Given the description of an element on the screen output the (x, y) to click on. 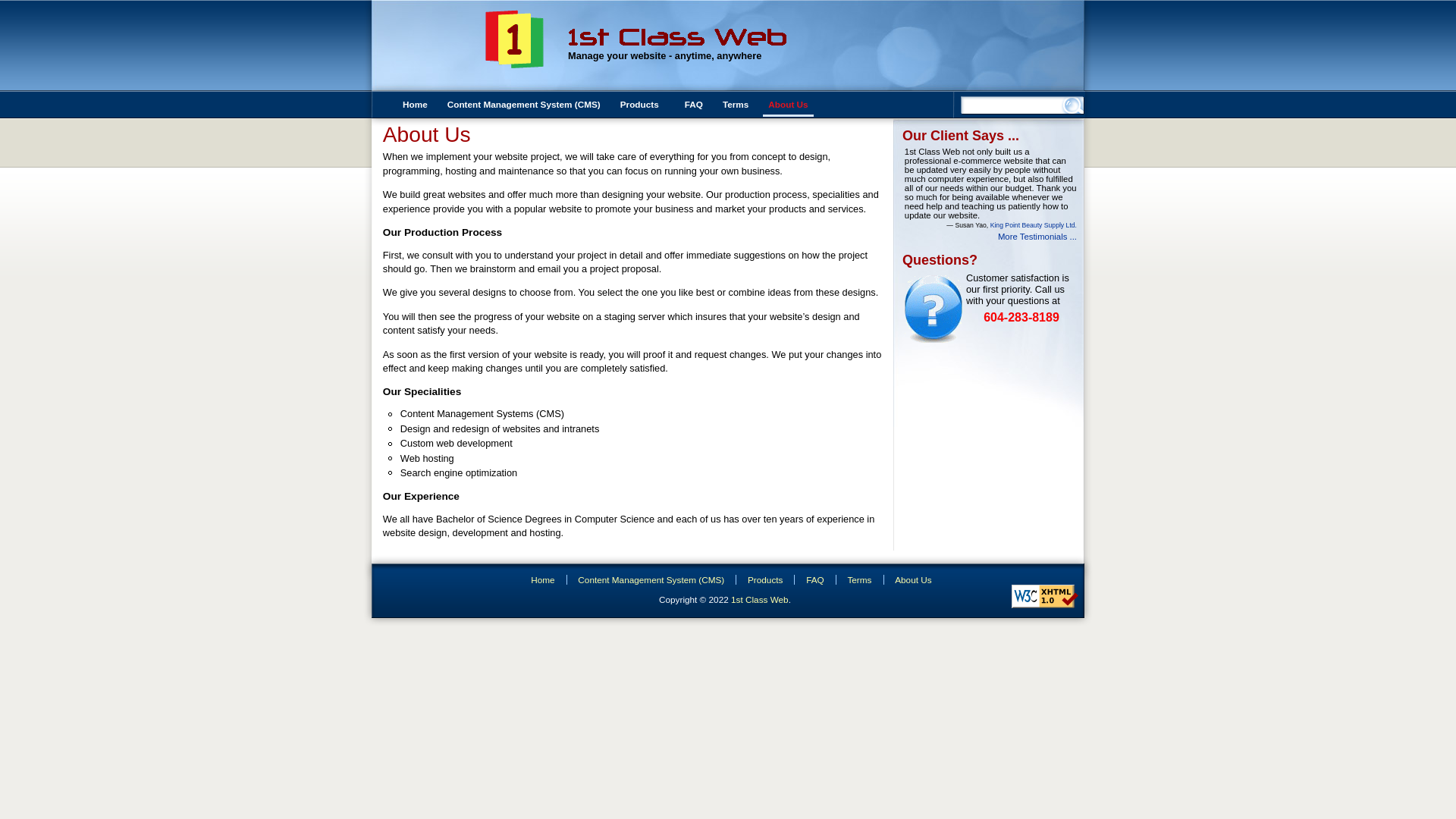
Terms Element type: text (856, 579)
Products Element type: text (761, 579)
Products Element type: text (642, 105)
Home Element type: text (539, 579)
King Point Beauty Supply Ltd. Element type: text (1033, 225)
Content Management System (CMS) Element type: text (647, 579)
Home Element type: text (415, 105)
Content Management System (CMS) Element type: text (523, 105)
Terms Element type: text (735, 105)
Search Element type: text (21, 7)
About Us Element type: text (787, 105)
1st Class Web Element type: text (759, 599)
FAQ Element type: text (811, 579)
About Us Element type: text (909, 579)
More Testimonials ... Element type: text (1036, 236)
FAQ Element type: text (693, 105)
Enter the terms you wish to search for. Element type: hover (1012, 101)
